Given the description of an element on the screen output the (x, y) to click on. 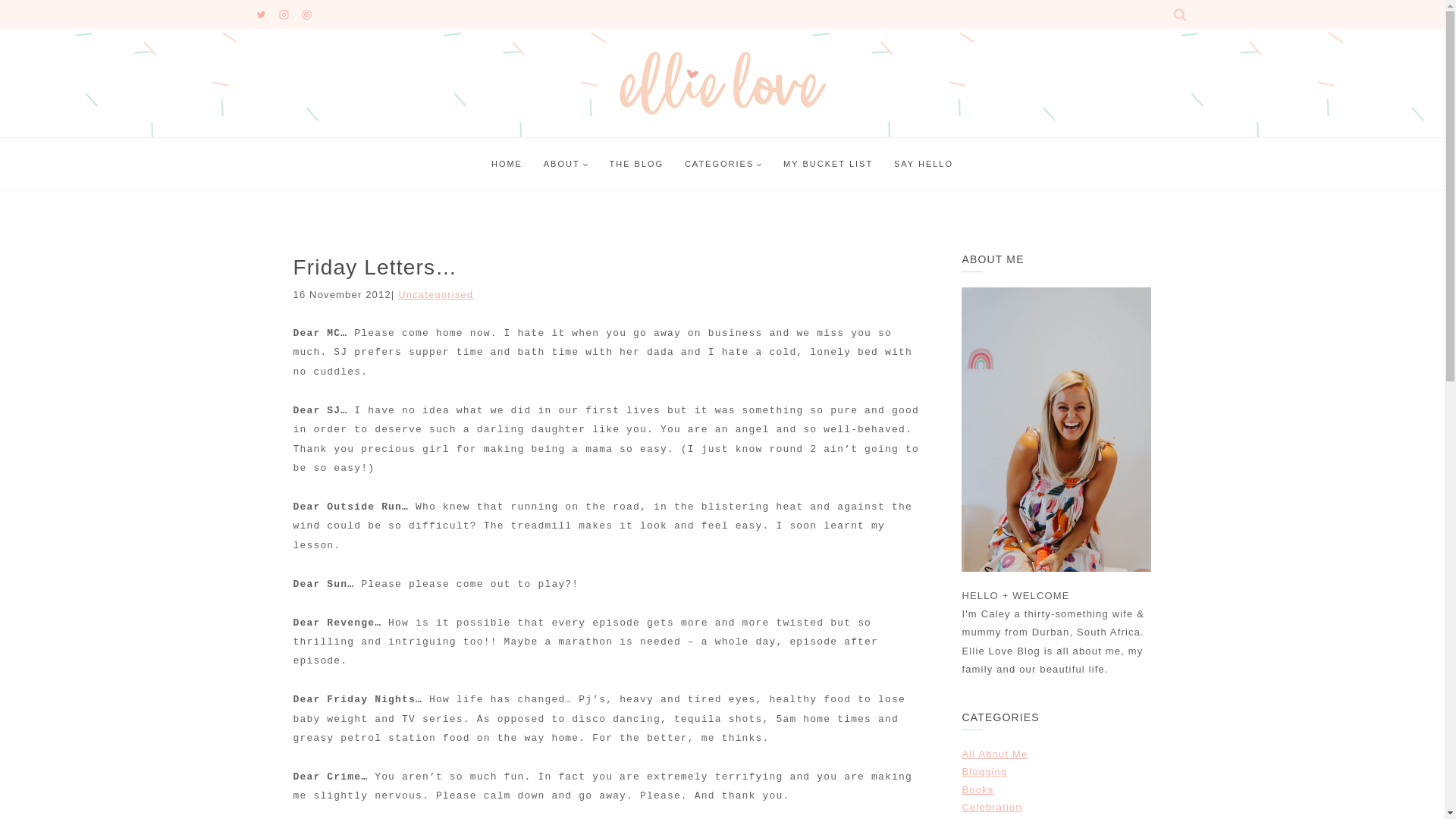
Celebration (991, 807)
Blogging (983, 771)
Books (976, 789)
THE BLOG (636, 163)
Uncategorised (435, 293)
All About Me (993, 754)
ABOUT (565, 163)
CATEGORIES (723, 163)
SAY HELLO (923, 163)
HOME (506, 163)
